Given the description of an element on the screen output the (x, y) to click on. 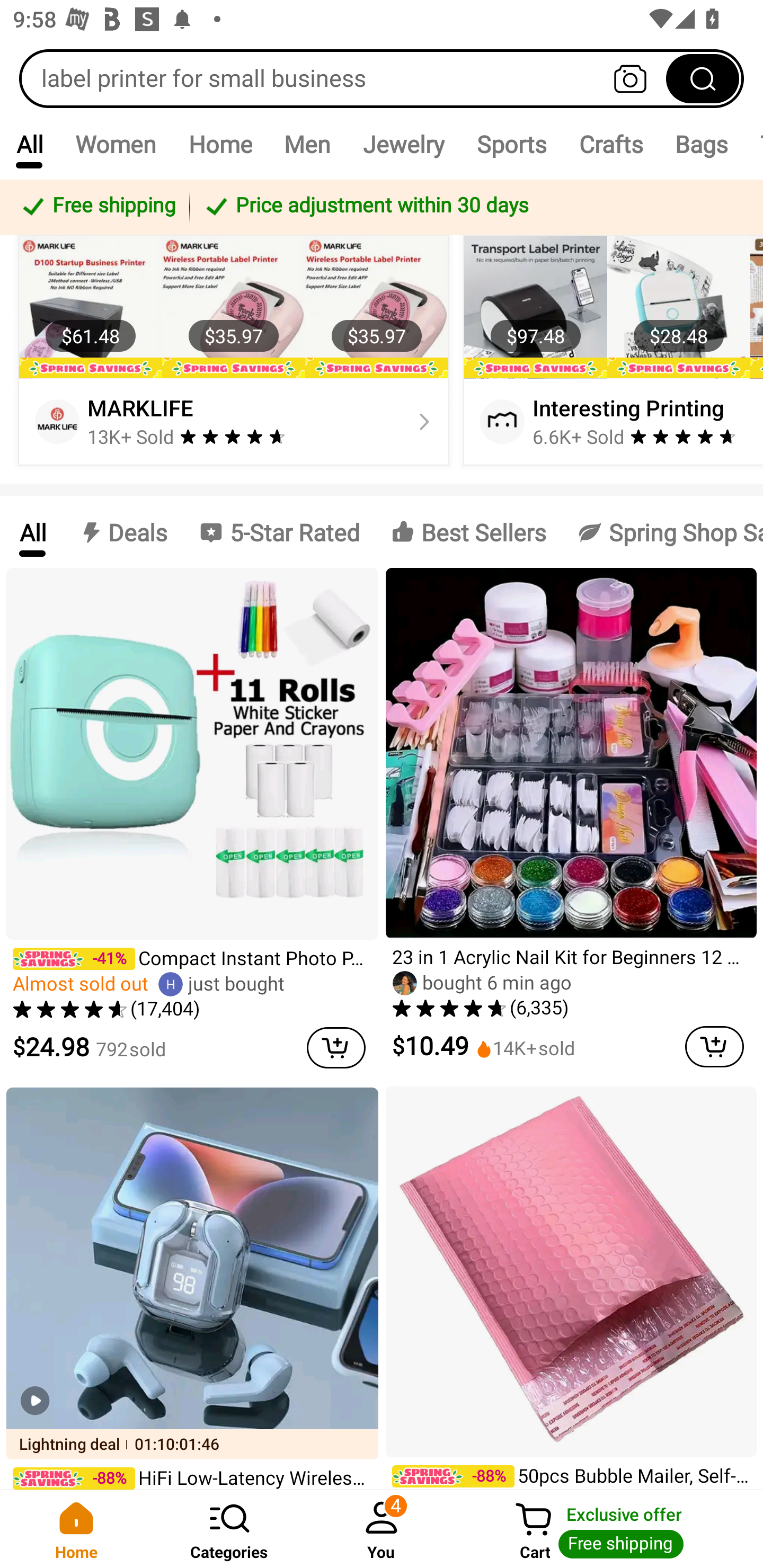
label printer for small business (381, 78)
All (29, 144)
Women (115, 144)
Home (219, 144)
Men (306, 144)
Jewelry (403, 144)
Sports (511, 144)
Crafts (611, 144)
Bags (701, 144)
Free shipping (97, 206)
Price adjustment within 30 days (472, 206)
$61.48 $35.97 $35.97 MARKLIFE 13K+ Sold (233, 349)
$97.48 $28.48 Interesting Printing 6.6K+ Sold (610, 349)
All (32, 532)
Deals Deals Deals (122, 532)
5-Star Rated 5-Star Rated 5-Star Rated (279, 532)
Best Sellers Best Sellers Best Sellers (468, 532)
Spring Shop Save Spring Shop Save Spring Shop Save (662, 532)
cart delete (714, 1046)
cart delete (335, 1047)
Home (76, 1528)
Categories (228, 1528)
You 4 You (381, 1528)
Cart Cart Exclusive offer (610, 1528)
